Given the description of an element on the screen output the (x, y) to click on. 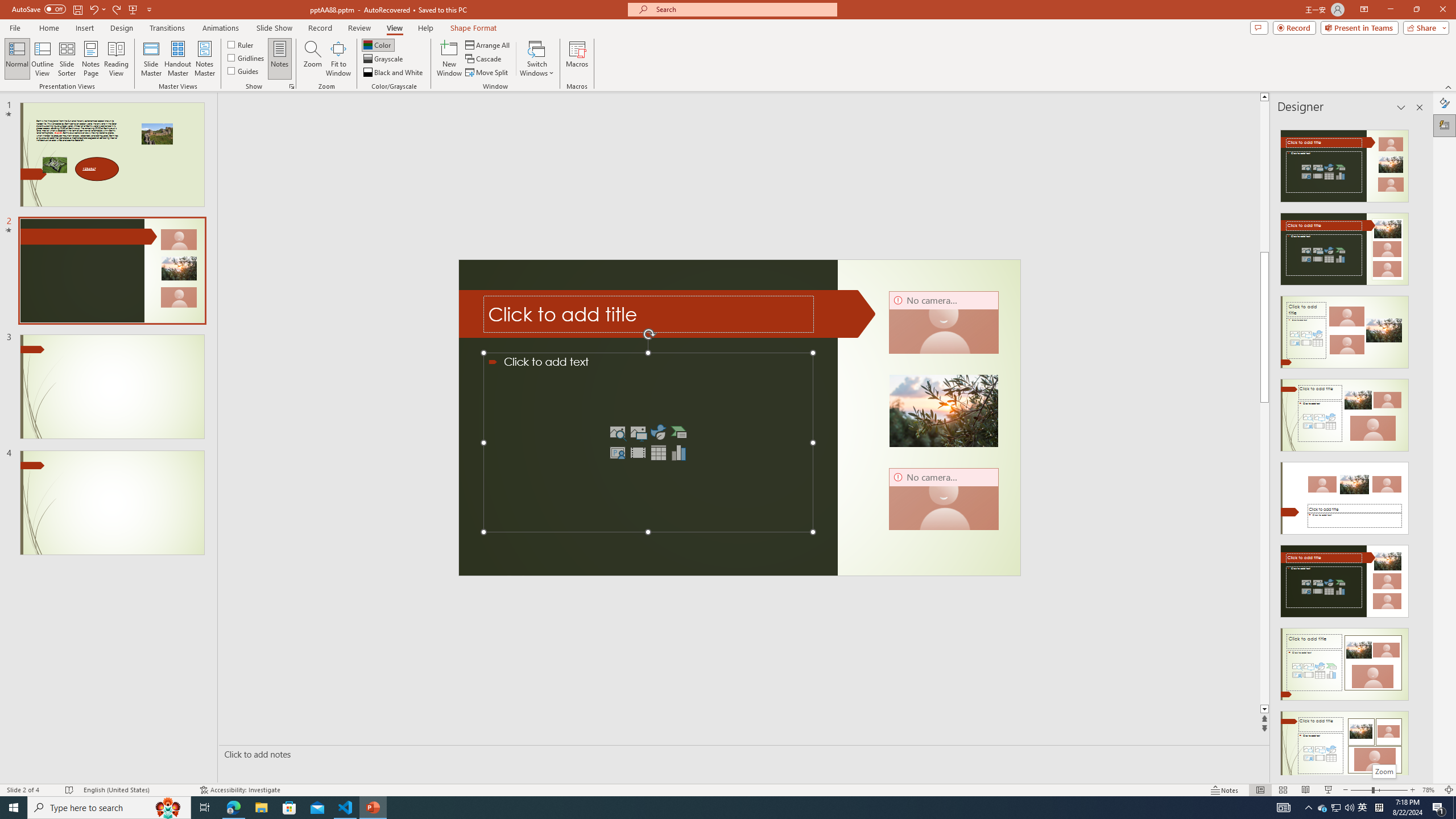
Switch Windows (537, 58)
Pictures (637, 432)
Recommended Design: Design Idea (1344, 162)
Class: NetUIScrollBar (1418, 447)
Slide Master (151, 58)
Insert Video (637, 452)
